Given the description of an element on the screen output the (x, y) to click on. 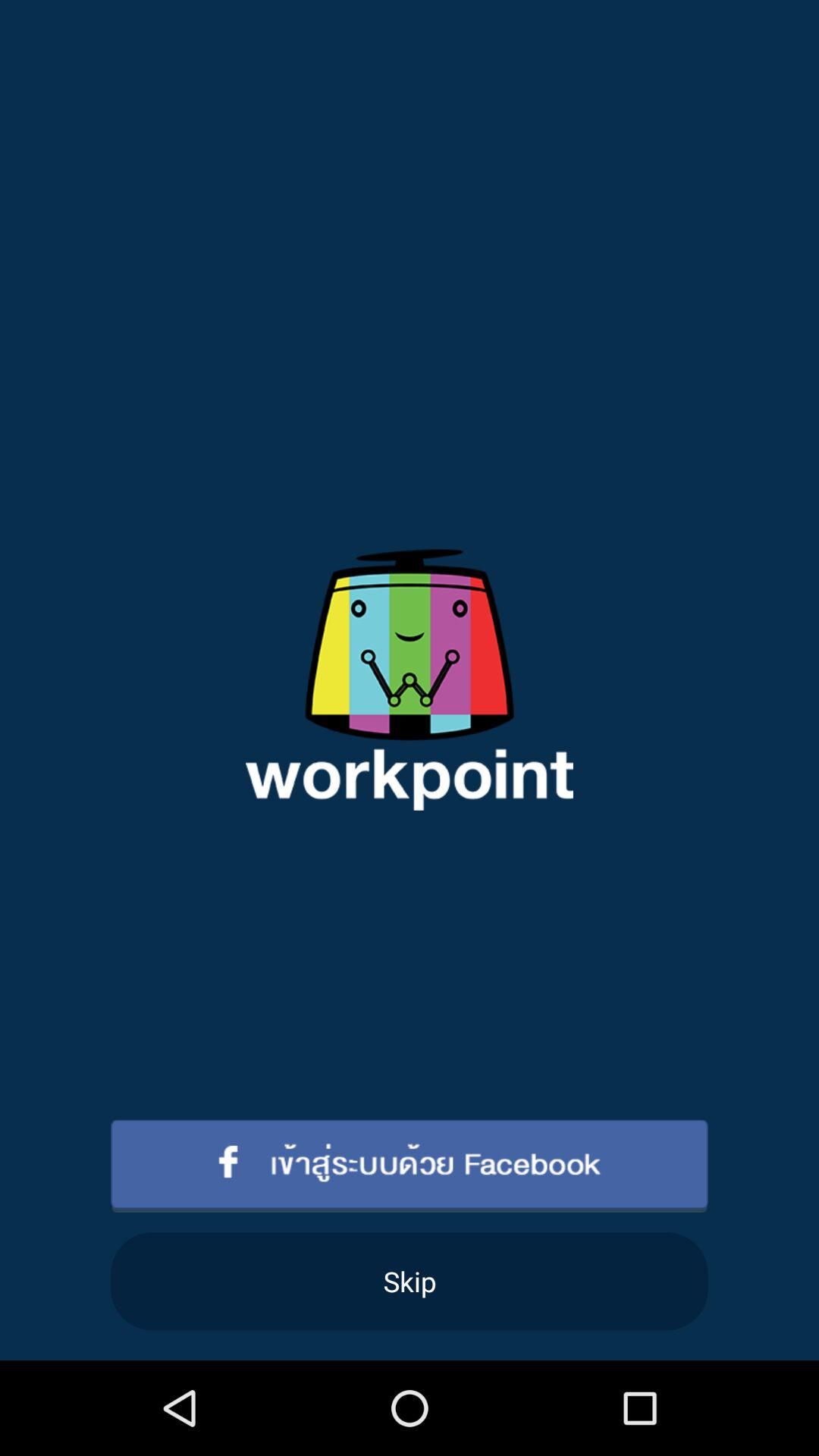
launch skip item (409, 1281)
